Given the description of an element on the screen output the (x, y) to click on. 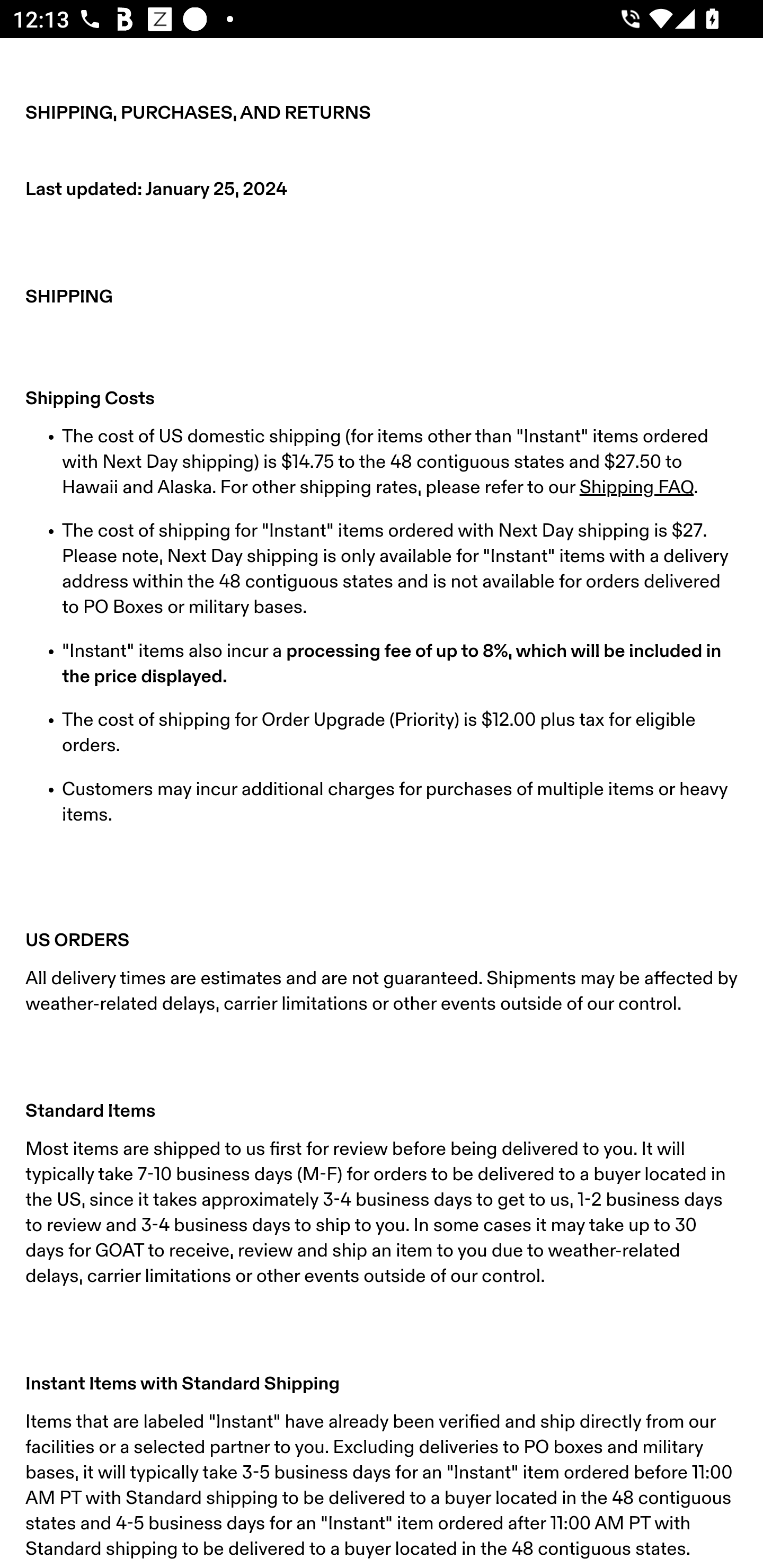
Shipping FAQ (636, 487)
